Given the description of an element on the screen output the (x, y) to click on. 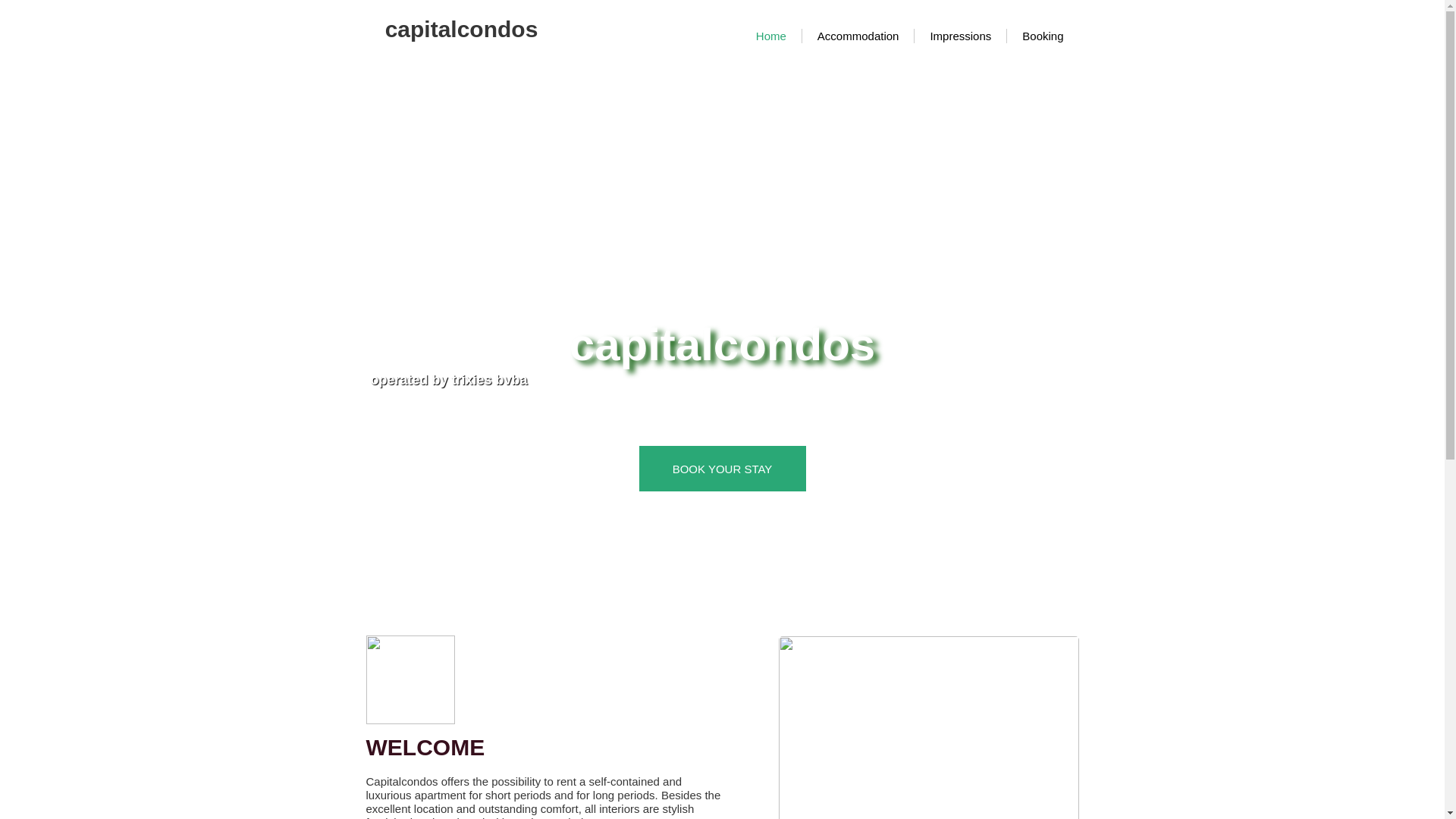
Booking Element type: text (1042, 35)
BOOK YOUR STAY Element type: text (721, 468)
Home Element type: text (770, 35)
Accommodation Element type: text (858, 35)
Impressions Element type: text (960, 35)
